Given the description of an element on the screen output the (x, y) to click on. 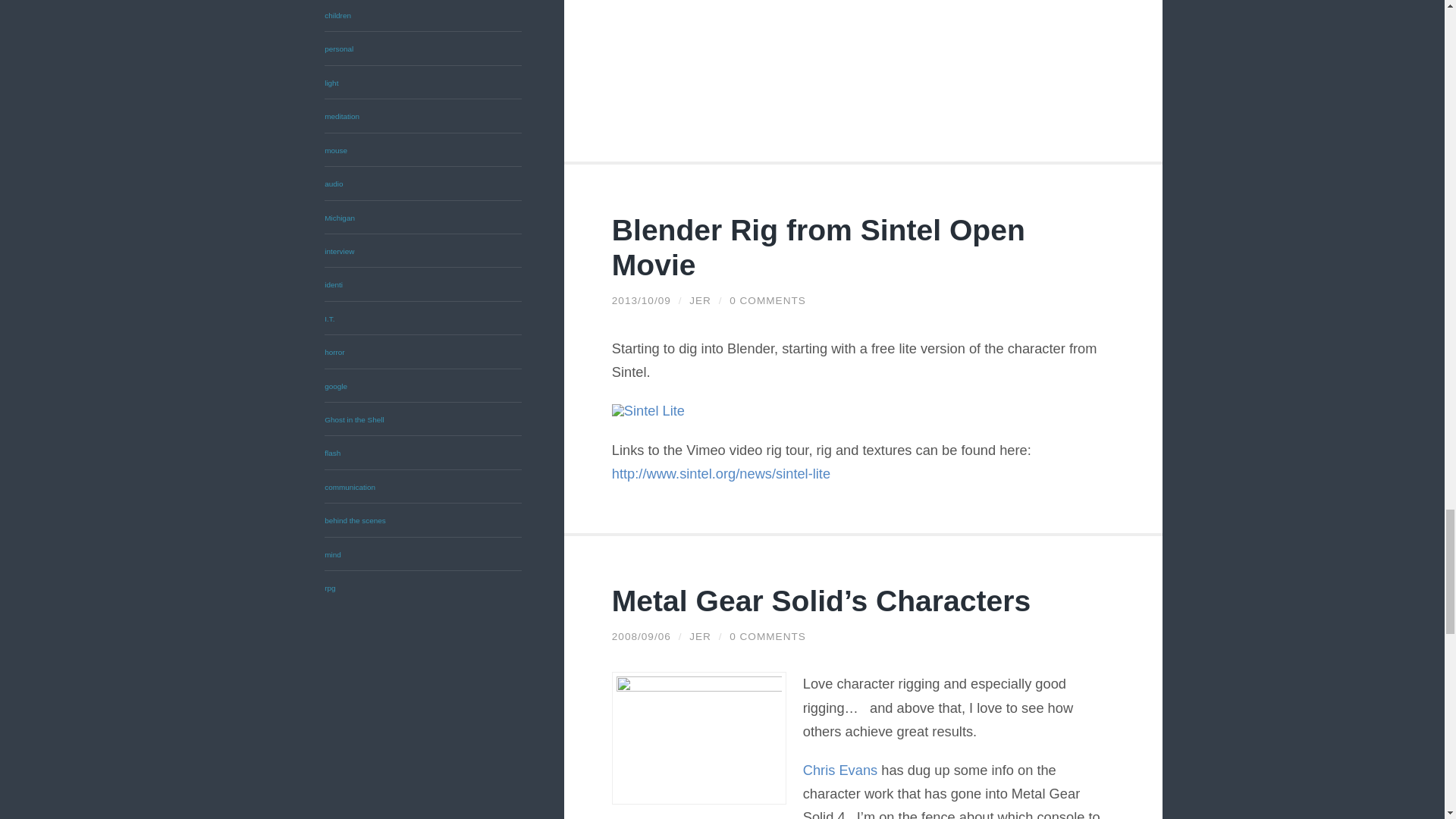
Blender Rig from Sintel Open Movie (641, 300)
Blender Rig from Sintel Open Movie (818, 247)
Sintel Lite download links (720, 473)
Sintel Lite download links (647, 410)
Posts by Jer (699, 300)
